Given the description of an element on the screen output the (x, y) to click on. 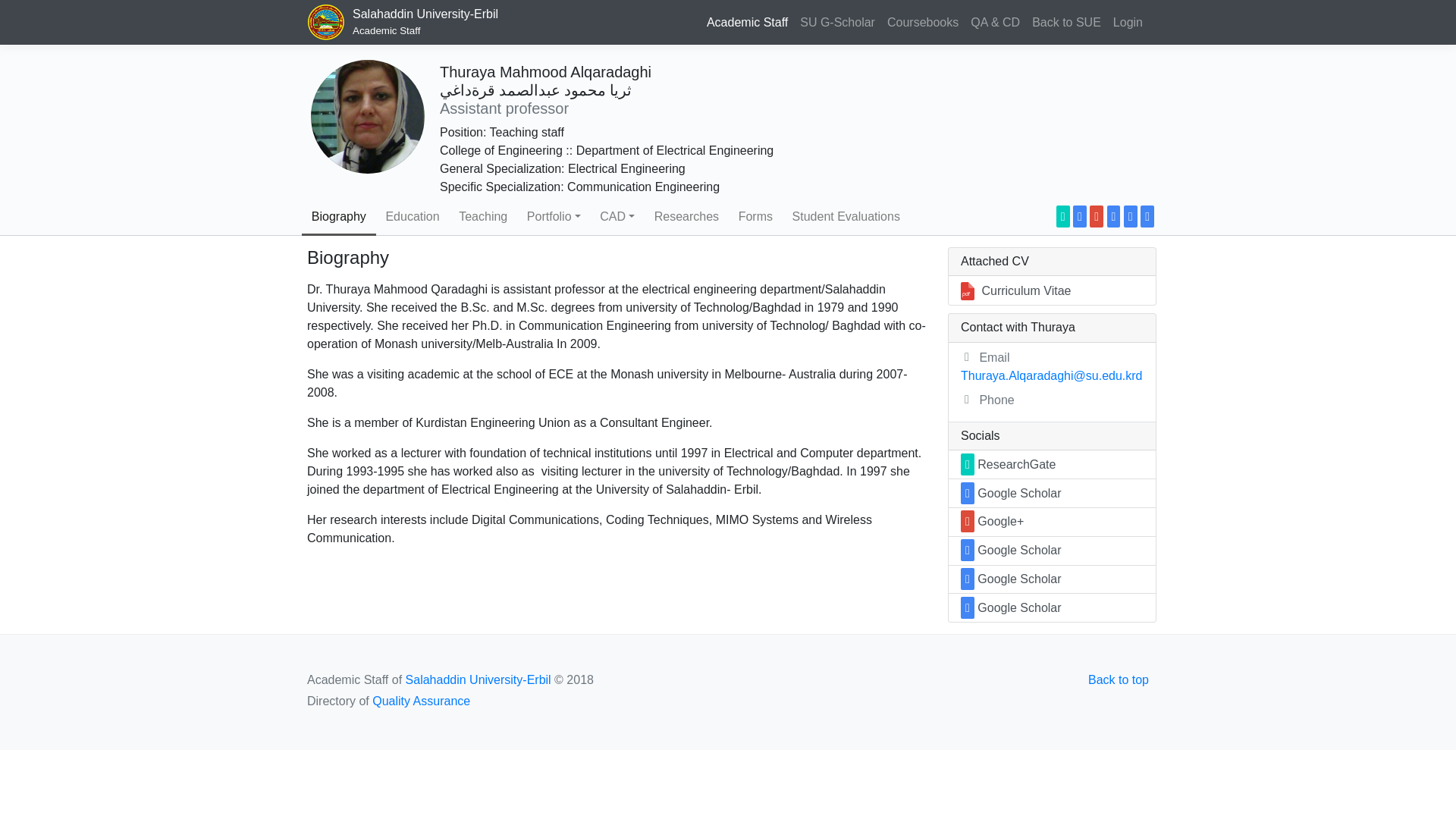
Back to SUE (1066, 22)
CAD (616, 216)
Researches (687, 216)
Salahaddin University Google Scholar (406, 22)
Quality Assurance and Curriculum Development (836, 22)
Education (994, 22)
SU G-Scholar (412, 216)
Login (836, 22)
Teaching (1127, 22)
